Given the description of an element on the screen output the (x, y) to click on. 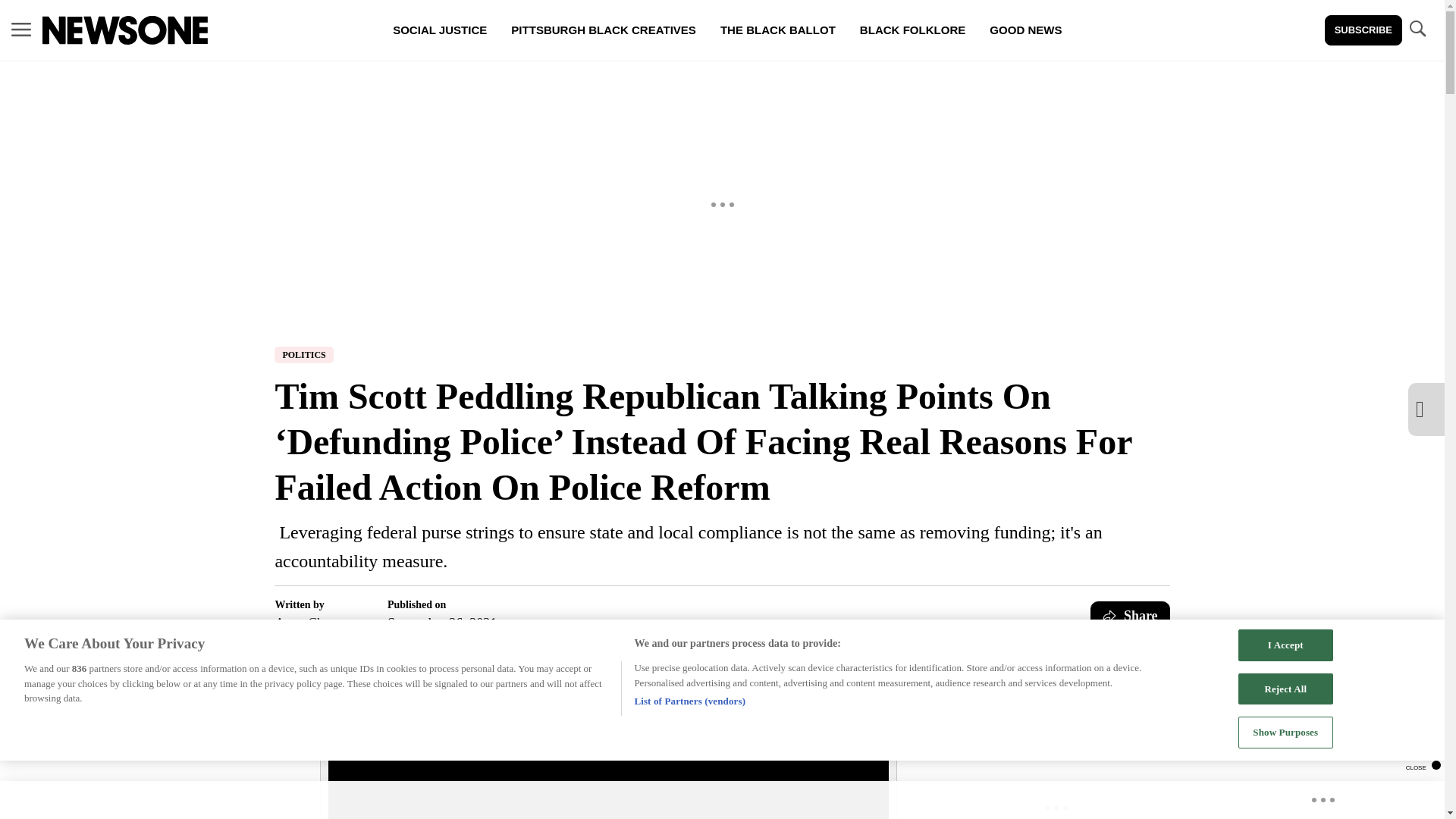
Anoa Changa (312, 622)
THE BLACK BALLOT (777, 30)
MENU (20, 29)
PITTSBURGH BLACK CREATIVES (603, 30)
Share (1130, 615)
POLITICS (304, 354)
BLACK FOLKLORE (911, 30)
TOGGLE SEARCH (1417, 30)
SUBSCRIBE (1363, 30)
GOOD NEWS (1025, 30)
TOGGLE SEARCH (1417, 28)
MENU (20, 30)
SOCIAL JUSTICE (439, 30)
